Given the description of an element on the screen output the (x, y) to click on. 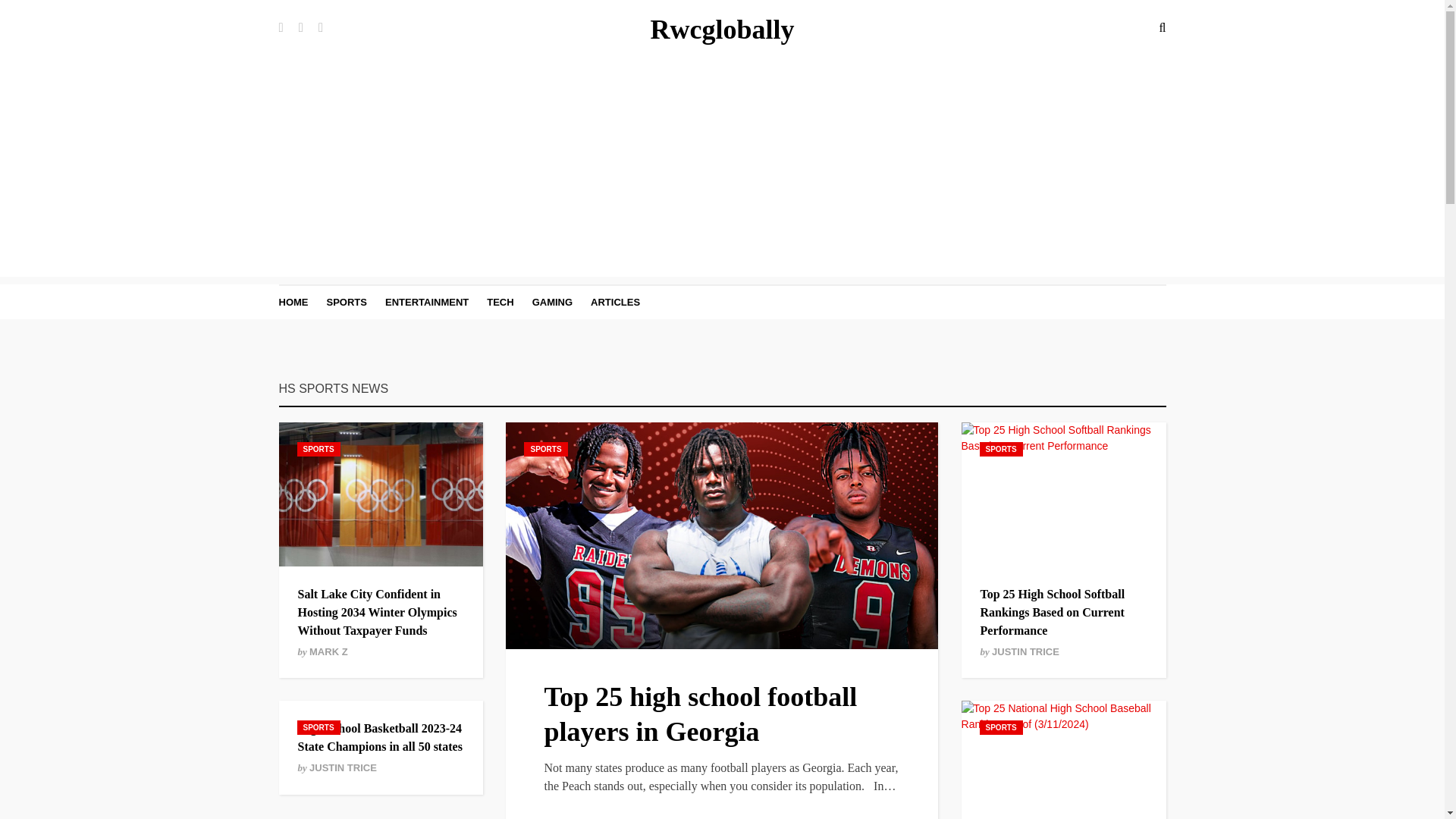
JUSTIN TRICE (342, 767)
SPORTS (346, 302)
JUSTIN TRICE (1025, 651)
Rwcglobally (721, 29)
ENTERTAINMENT (426, 302)
GAMING (552, 302)
SPORTS (318, 449)
